Given the description of an element on the screen output the (x, y) to click on. 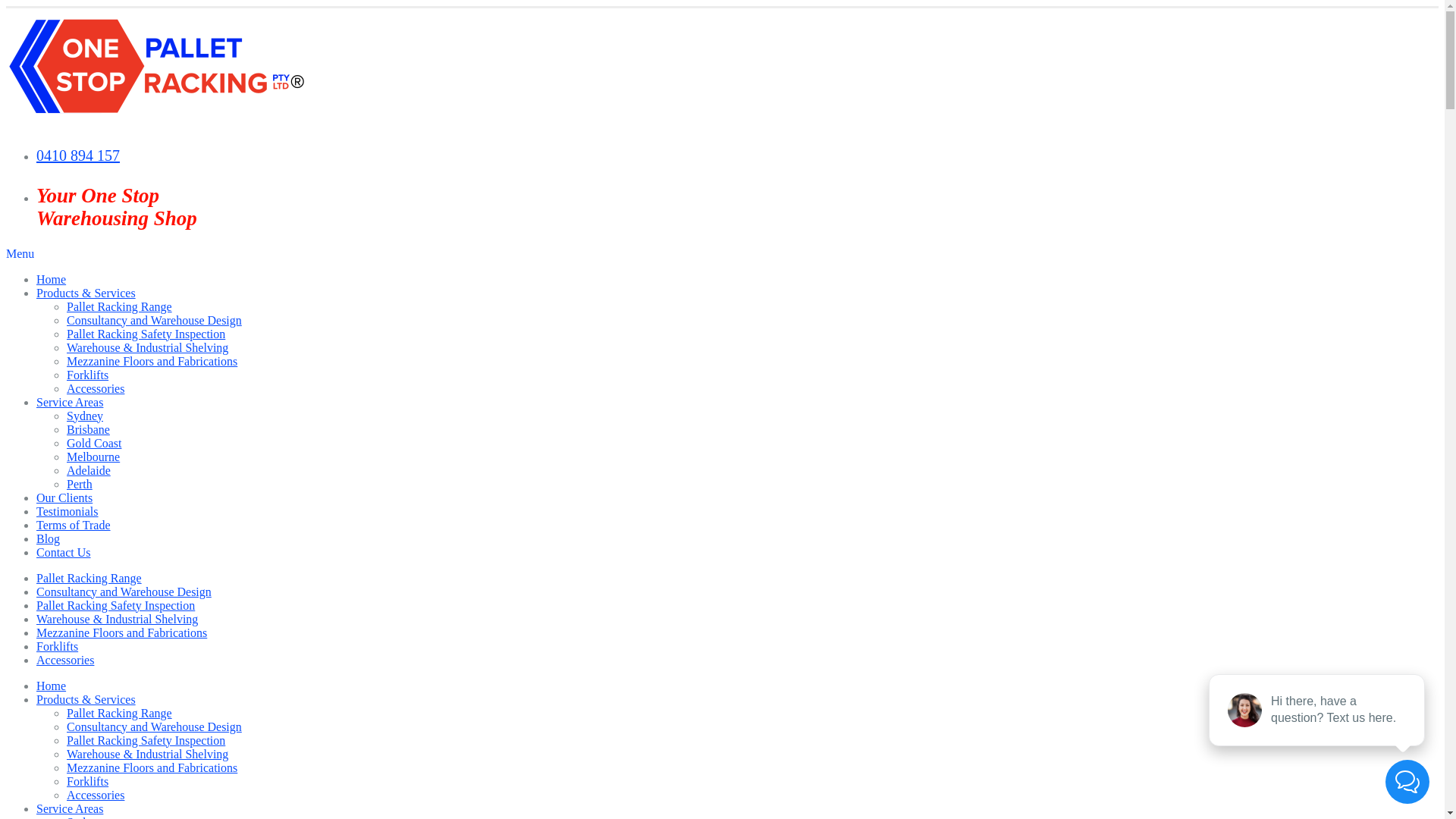
Adelaide Element type: text (88, 470)
Blog Element type: text (47, 538)
Forklifts Element type: text (87, 781)
Consultancy and Warehouse Design Element type: text (123, 591)
Perth Element type: text (79, 483)
Pallet Racking Safety Inspection Element type: text (145, 333)
Pallet Racking Range Element type: text (119, 306)
Consultancy and Warehouse Design Element type: text (153, 726)
Mezzanine Floors and Fabrications Element type: text (121, 632)
Accessories Element type: text (95, 794)
Home Element type: text (50, 279)
Pallet Racking Range Element type: text (88, 577)
Service Areas Element type: text (69, 808)
Warehouse & Industrial Shelving Element type: text (147, 347)
Accessories Element type: text (65, 659)
Contact Us Element type: text (63, 552)
0410 894 157 Element type: text (77, 155)
Mezzanine Floors and Fabrications Element type: text (151, 767)
Consultancy and Warehouse Design Element type: text (153, 319)
Forklifts Element type: text (87, 374)
Pallet Racking Safety Inspection Element type: text (145, 740)
Melbourne Element type: text (92, 456)
Mezzanine Floors and Fabrications Element type: text (151, 360)
Brisbane Element type: text (87, 429)
Products & Services Element type: text (85, 699)
Sydney Element type: text (84, 415)
Testimonials Element type: text (67, 511)
Products & Services Element type: text (85, 292)
Pallet Racking Range Element type: text (119, 712)
Service Areas Element type: text (69, 401)
Warehouse & Industrial Shelving Element type: text (116, 618)
Our Clients Element type: text (64, 497)
Pallet Racking Safety Inspection Element type: text (115, 605)
Warehouse & Industrial Shelving Element type: text (147, 753)
Home Element type: text (50, 685)
Accessories Element type: text (95, 388)
Terms of Trade Element type: text (73, 524)
Gold Coast Element type: text (93, 442)
Forklifts Element type: text (57, 646)
